Given the description of an element on the screen output the (x, y) to click on. 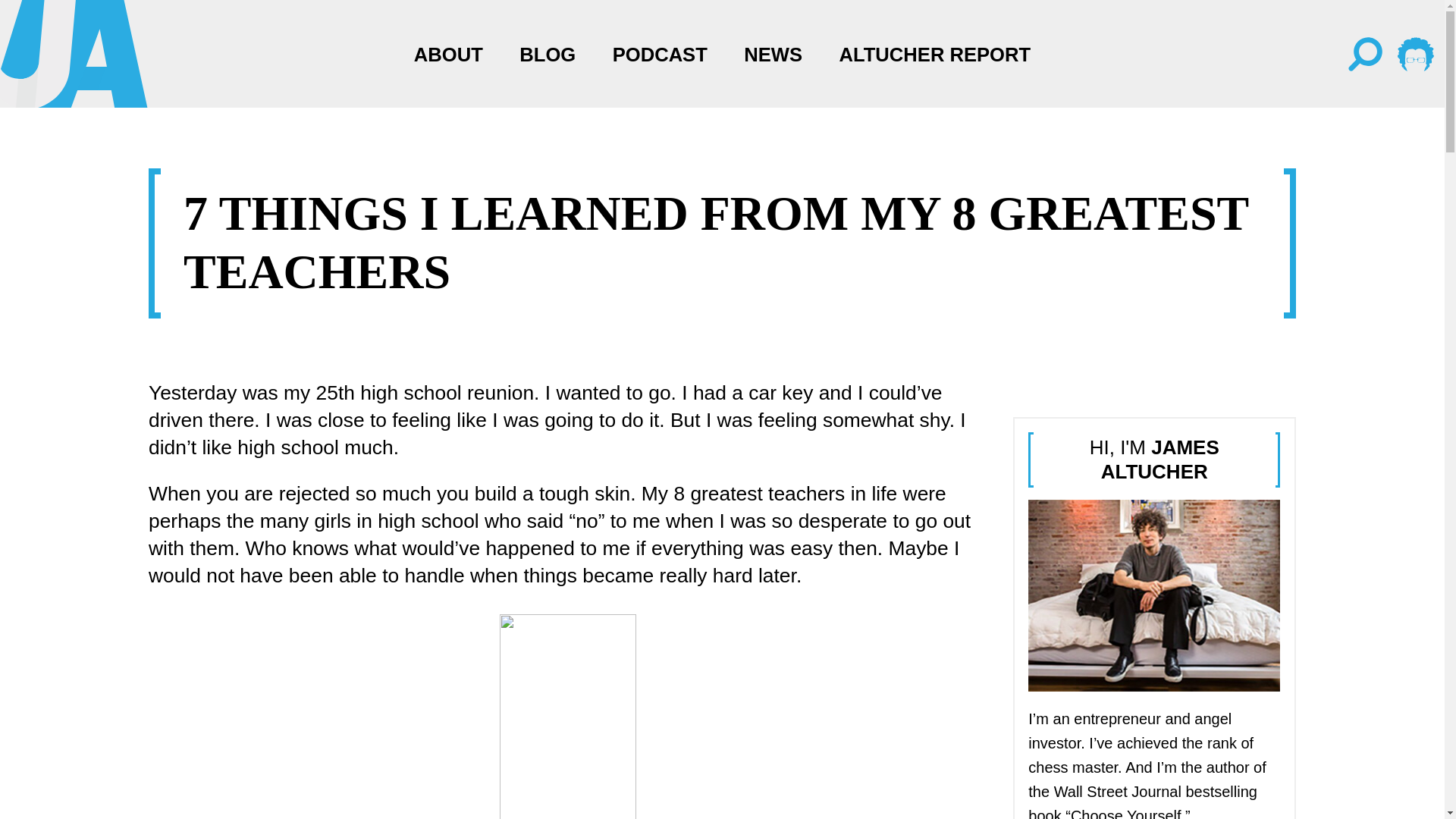
James Altucher (1153, 595)
Return Home (144, 55)
ALTUCHER REPORT (935, 53)
PODCAST (660, 53)
ABOUT (448, 53)
James Altucher (74, 53)
BLOG (547, 53)
NEWS (772, 53)
